Given the description of an element on the screen output the (x, y) to click on. 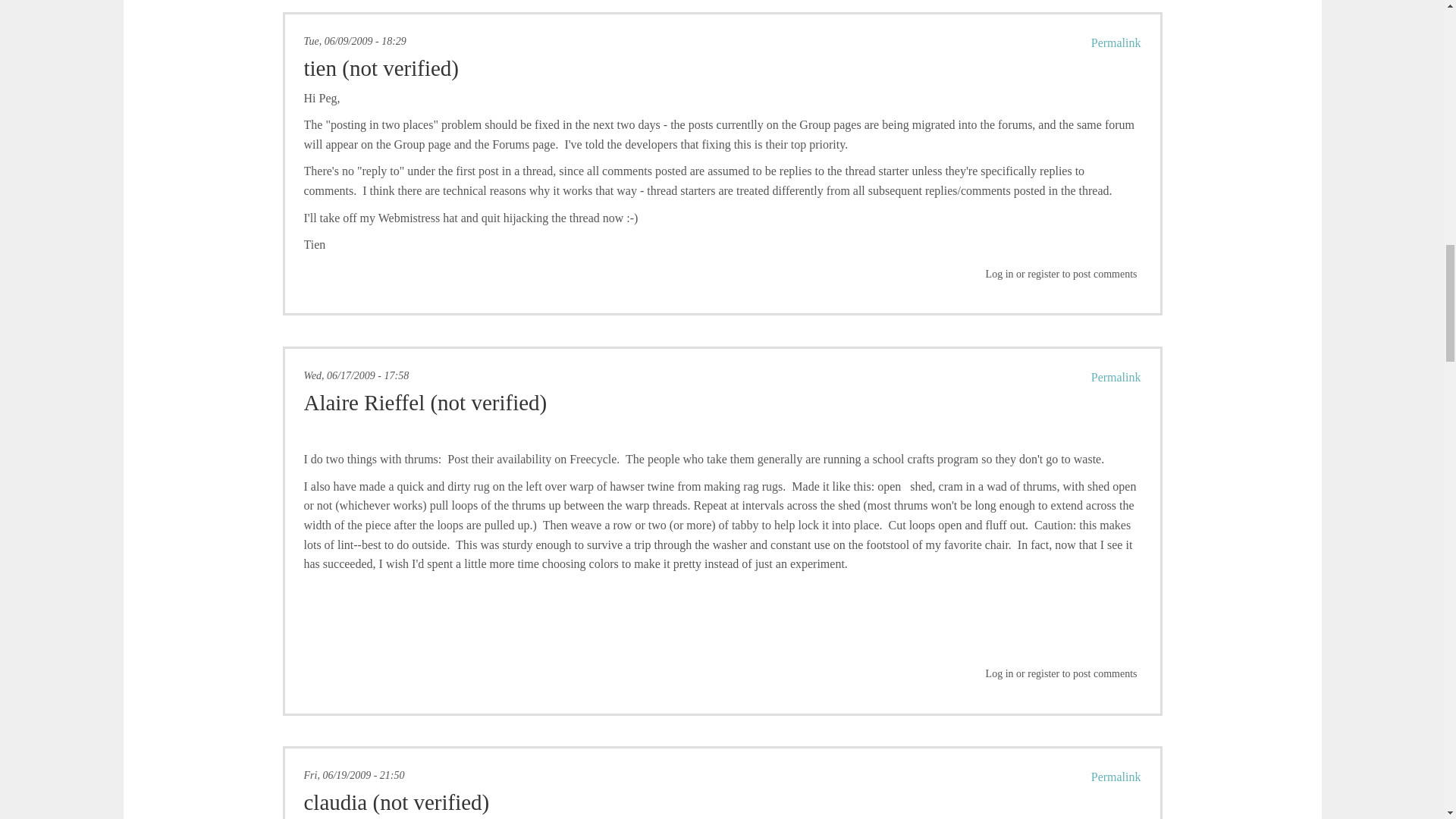
Log in (999, 274)
Permalink (1115, 42)
register (1043, 274)
Permalink (1115, 776)
Permalink (1115, 377)
register (1043, 673)
Log in (999, 673)
